Given the description of an element on the screen output the (x, y) to click on. 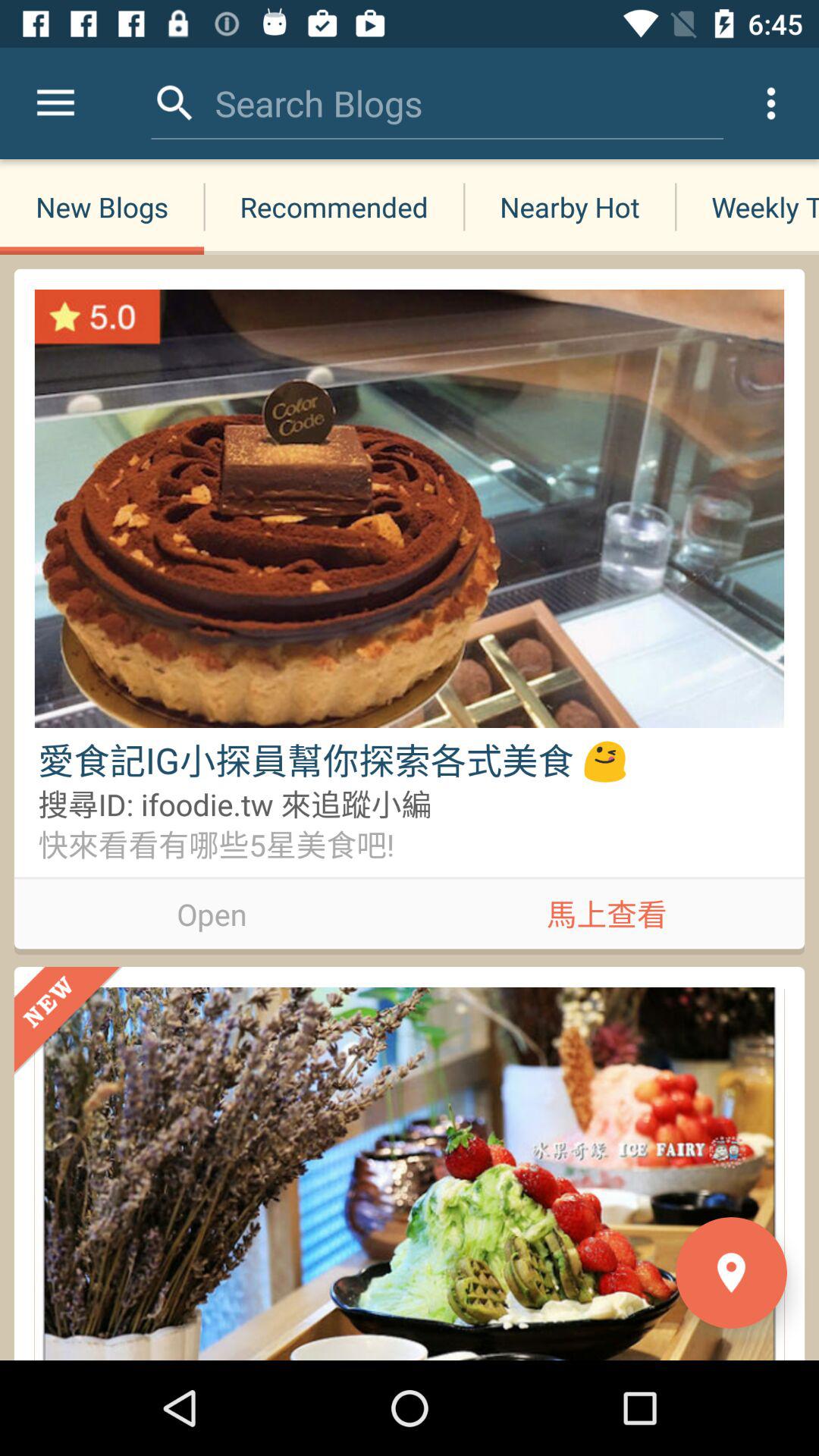
press new blogs item (102, 206)
